Given the description of an element on the screen output the (x, y) to click on. 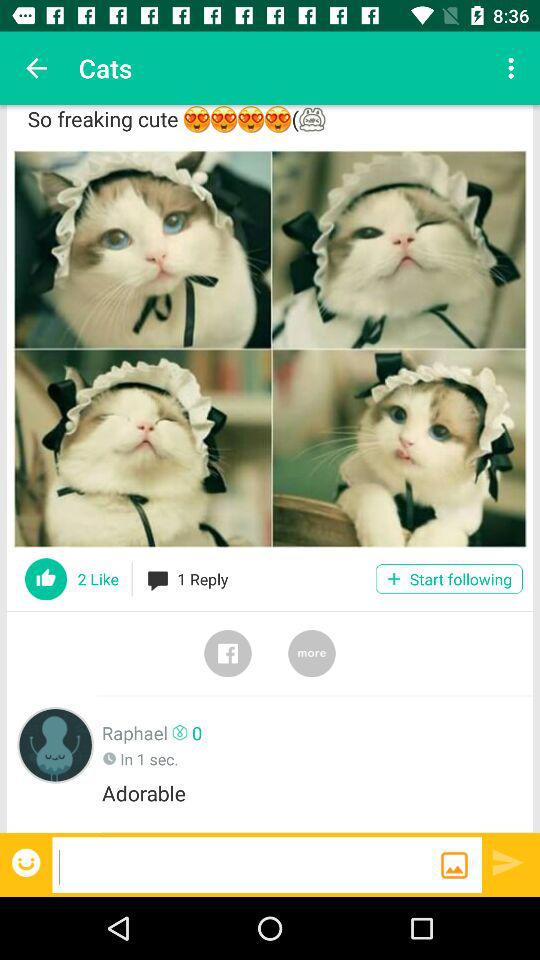
go to face book notification (228, 653)
